Given the description of an element on the screen output the (x, y) to click on. 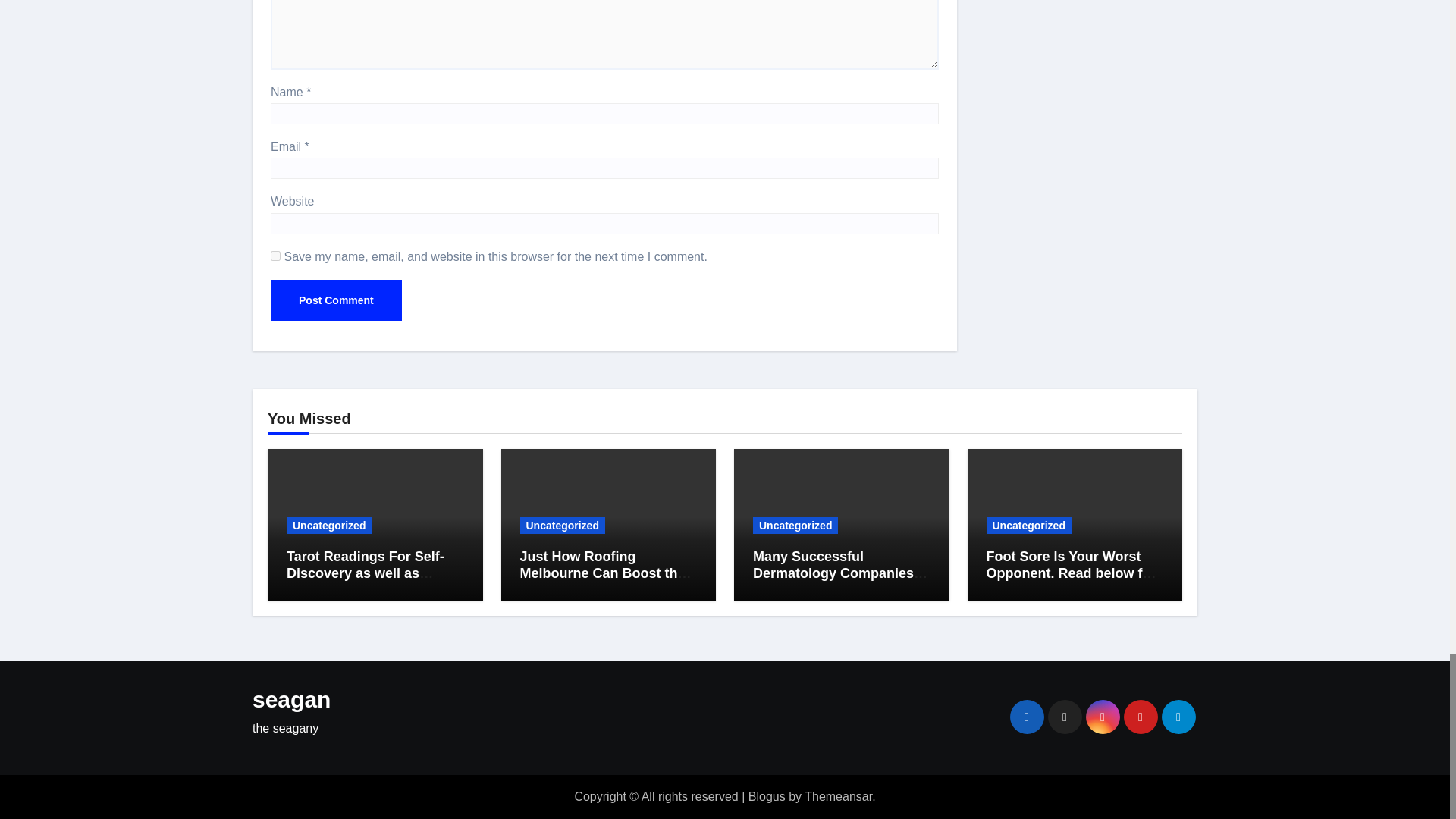
yes (275, 255)
Permalink to: Many Successful Dermatology Companies In Area (841, 572)
Post Comment (335, 300)
